Given the description of an element on the screen output the (x, y) to click on. 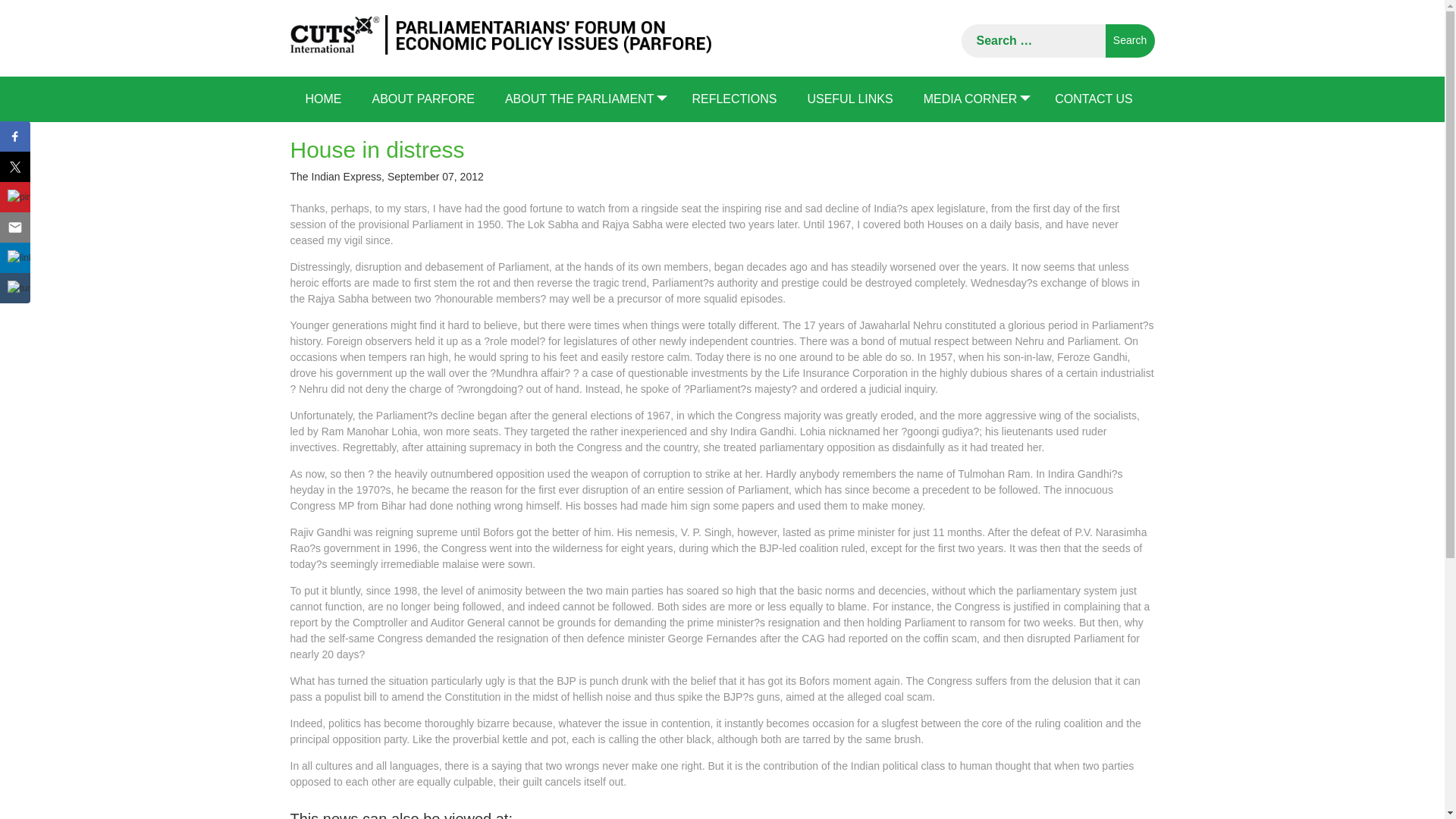
Search (1129, 40)
Search (1129, 40)
REFLECTIONS (734, 99)
logo (499, 34)
ABOUT PARFORE (422, 99)
CONTACT US (1093, 99)
MEDIA CORNER (974, 99)
ABOUT THE PARLIAMENT (583, 99)
HOME (322, 99)
USEFUL LINKS (849, 99)
Search (1129, 40)
